Given the description of an element on the screen output the (x, y) to click on. 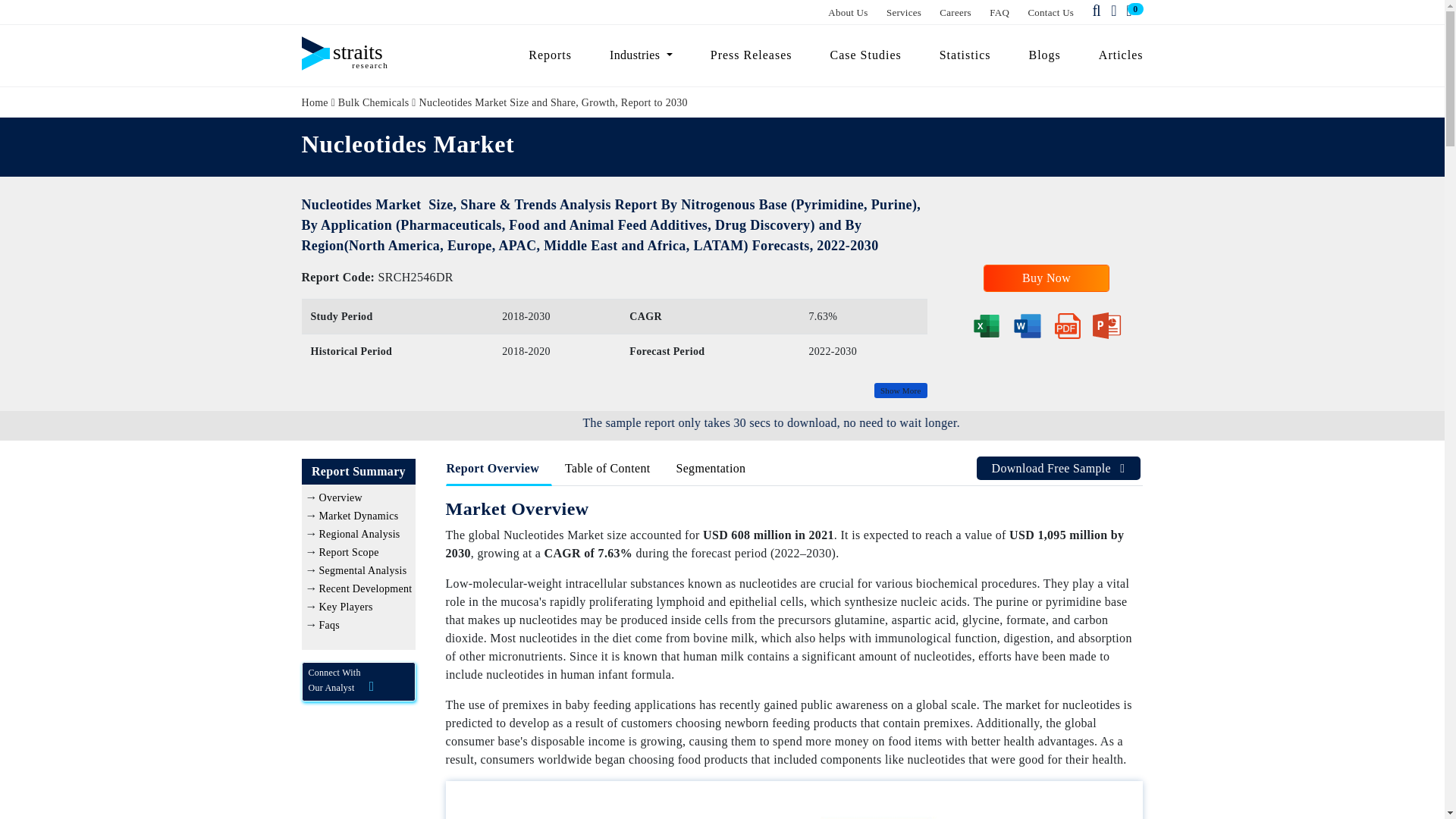
Regional Analysis (358, 533)
FAQ (999, 12)
Overview (339, 497)
Recent Development (365, 588)
Faqs (328, 624)
Cart (1130, 11)
Press Releases (750, 55)
Industries (641, 55)
Home (315, 102)
Segmental Analysis (362, 570)
About Us (847, 12)
Careers (955, 12)
Blogs (1044, 55)
Key Players (345, 606)
Reports (549, 55)
